Given the description of an element on the screen output the (x, y) to click on. 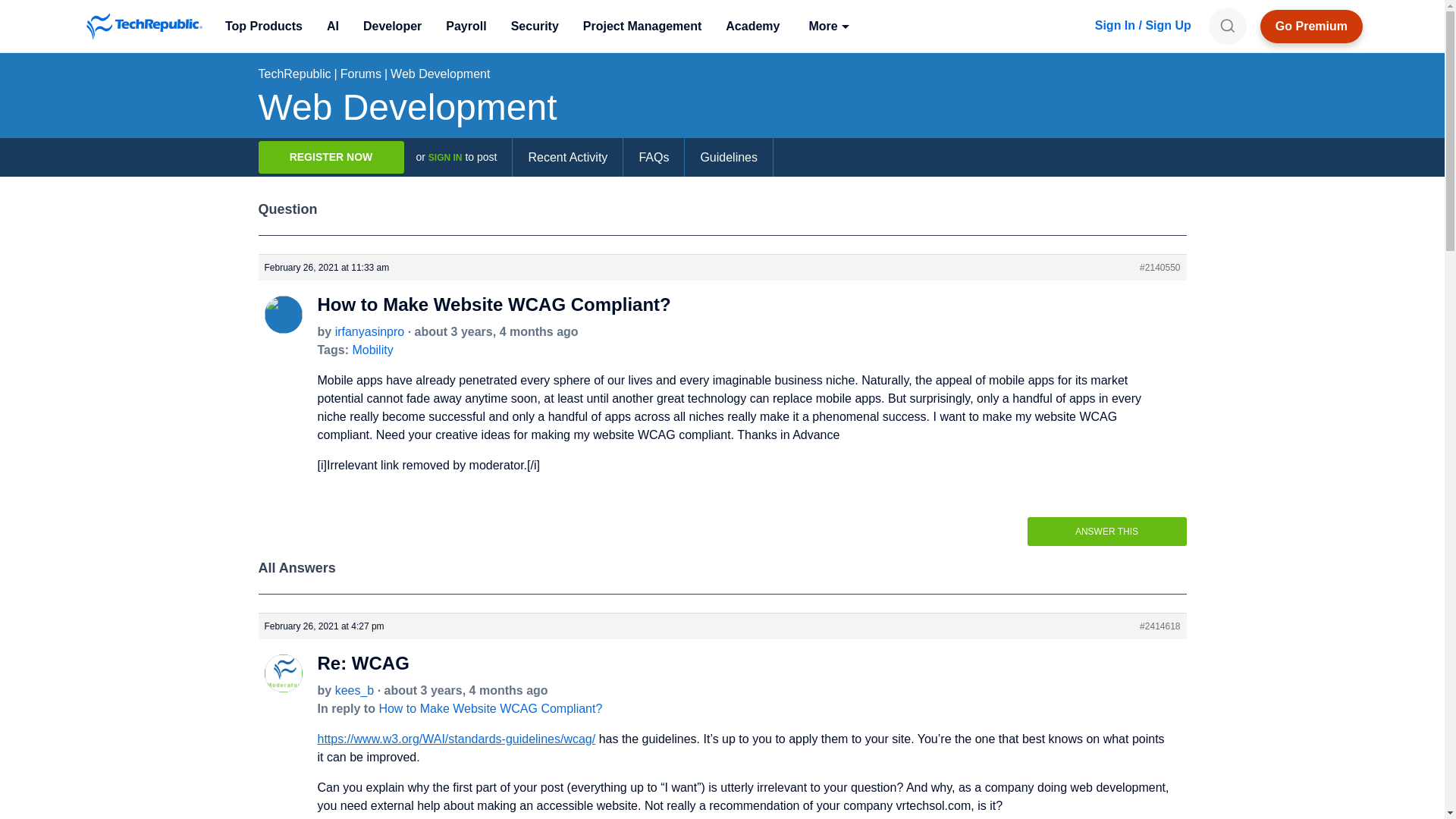
TechRepublic (143, 25)
View irfanyasinpro's profile (282, 326)
View irfanyasinpro's profile (369, 331)
Security (534, 26)
Web Development (439, 73)
Recent Activity (567, 157)
Forums (360, 73)
TechRepublic (143, 25)
FAQs (653, 157)
TechRepublic (293, 73)
TechRepublic Premium (1311, 25)
AI (332, 26)
Academy (752, 26)
Go Premium (1311, 25)
SIGN IN (445, 157)
